Given the description of an element on the screen output the (x, y) to click on. 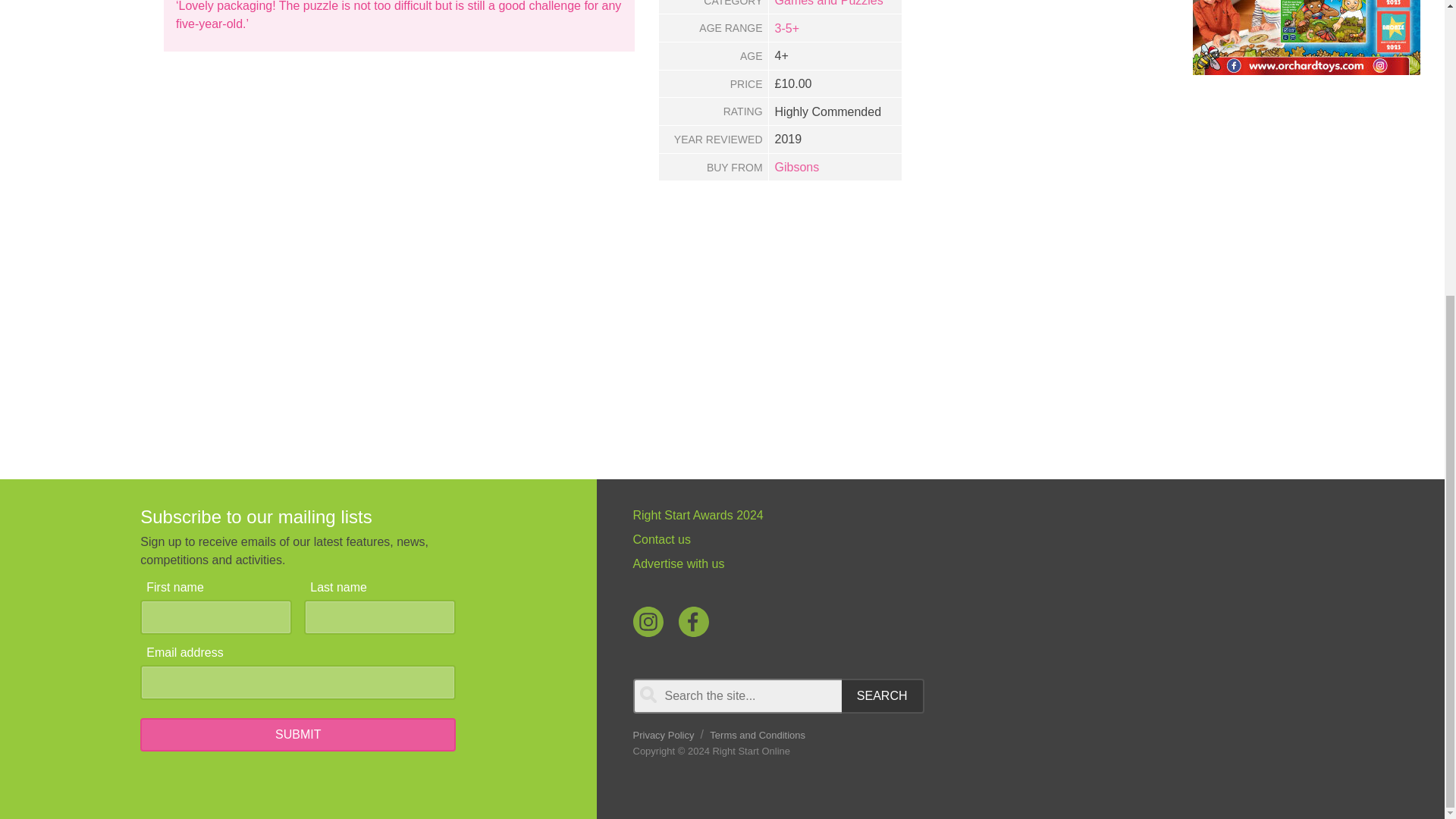
Find us on Facebook (693, 621)
Contact us (893, 539)
SEARCH (882, 695)
SUBMIT (297, 734)
Privacy Policy (662, 735)
Advertise with us (893, 564)
Gibsons (796, 166)
Terms and Conditions (757, 735)
Follow us on Instagram (646, 621)
Games and Puzzles (828, 3)
Right Start Awards 2024 (893, 515)
